Given the description of an element on the screen output the (x, y) to click on. 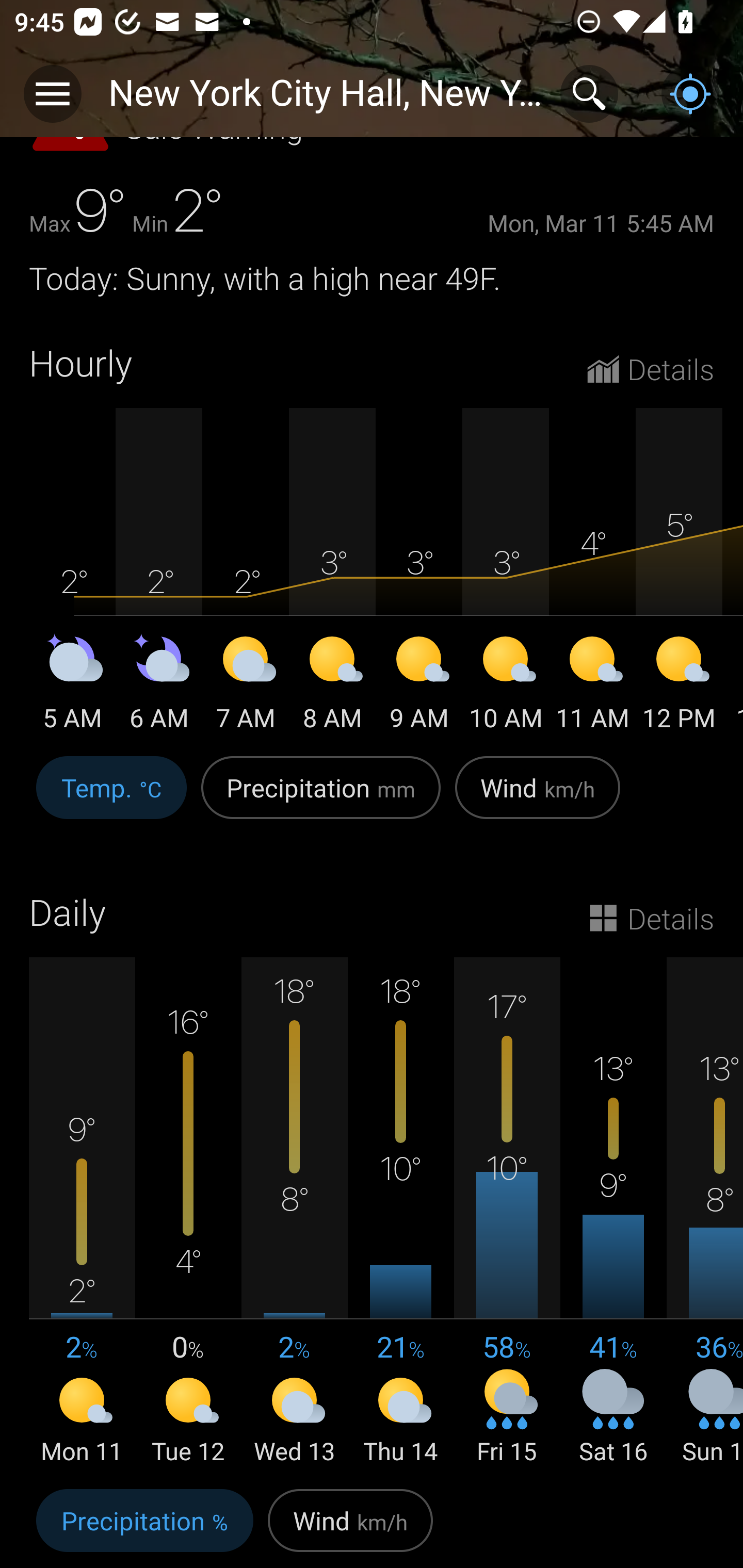
5 AM (71, 686)
6 AM (158, 686)
7 AM (245, 686)
8 AM (332, 686)
9 AM (418, 686)
10 AM (505, 686)
11 AM (592, 686)
12 PM (679, 686)
Temp. °C (110, 798)
Precipitation mm (320, 798)
Wind km/h (537, 798)
9° 2° 2 % Mon 11 (81, 1212)
16° 4° 0 % Tue 12 (188, 1212)
18° 8° 2 % Wed 13 (294, 1212)
18° 10° 21 % Thu 14 (400, 1212)
17° 10° 58 % Fri 15 (506, 1212)
13° 9° 41 % Sat 16 (613, 1212)
13° 8° 36 % Sun 17 (704, 1212)
Precipitation % (144, 1524)
Wind km/h (349, 1524)
